Given the description of an element on the screen output the (x, y) to click on. 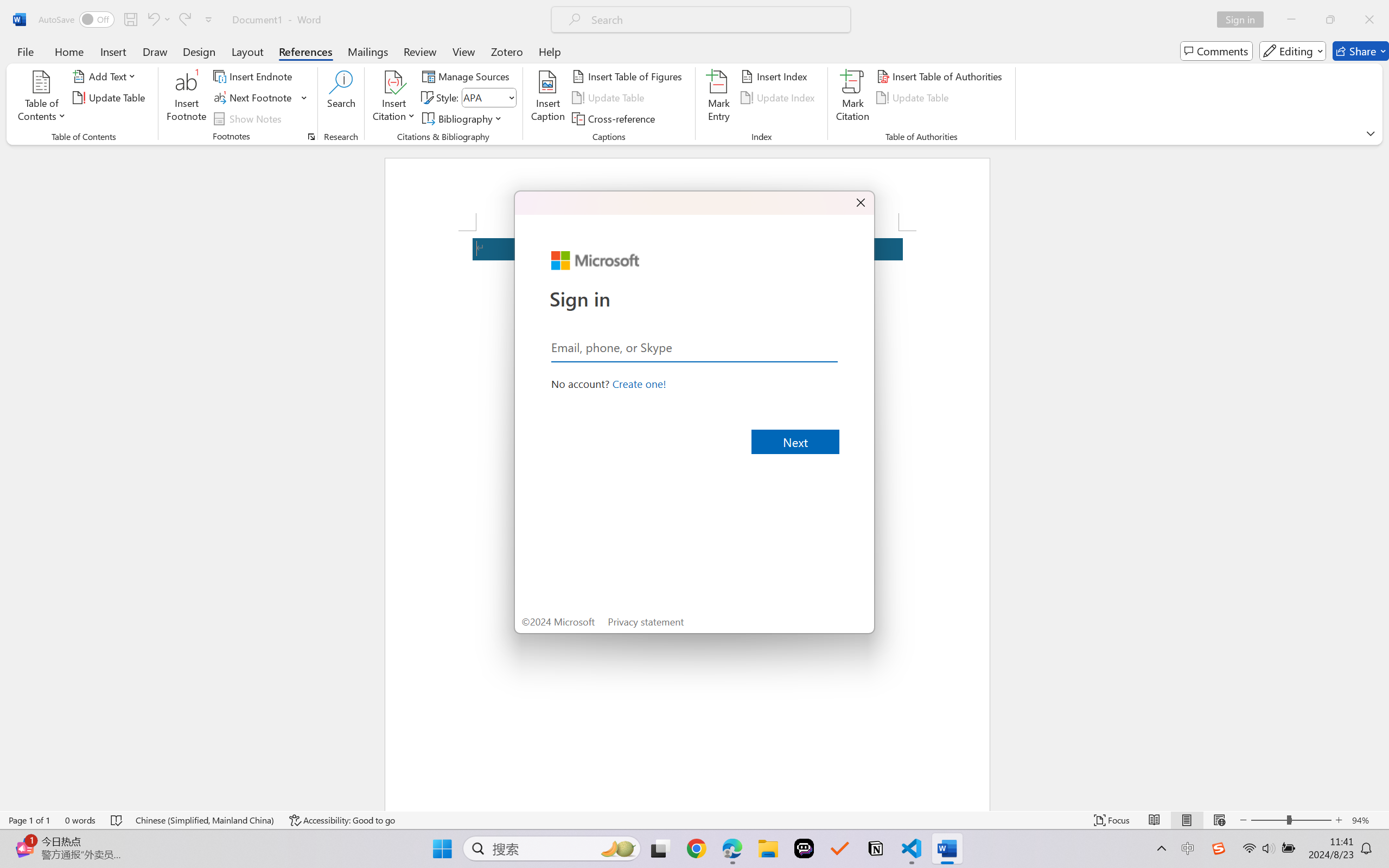
Next Footnote (260, 97)
Table of Contents (42, 97)
Cross-reference... (615, 118)
